Given the description of an element on the screen output the (x, y) to click on. 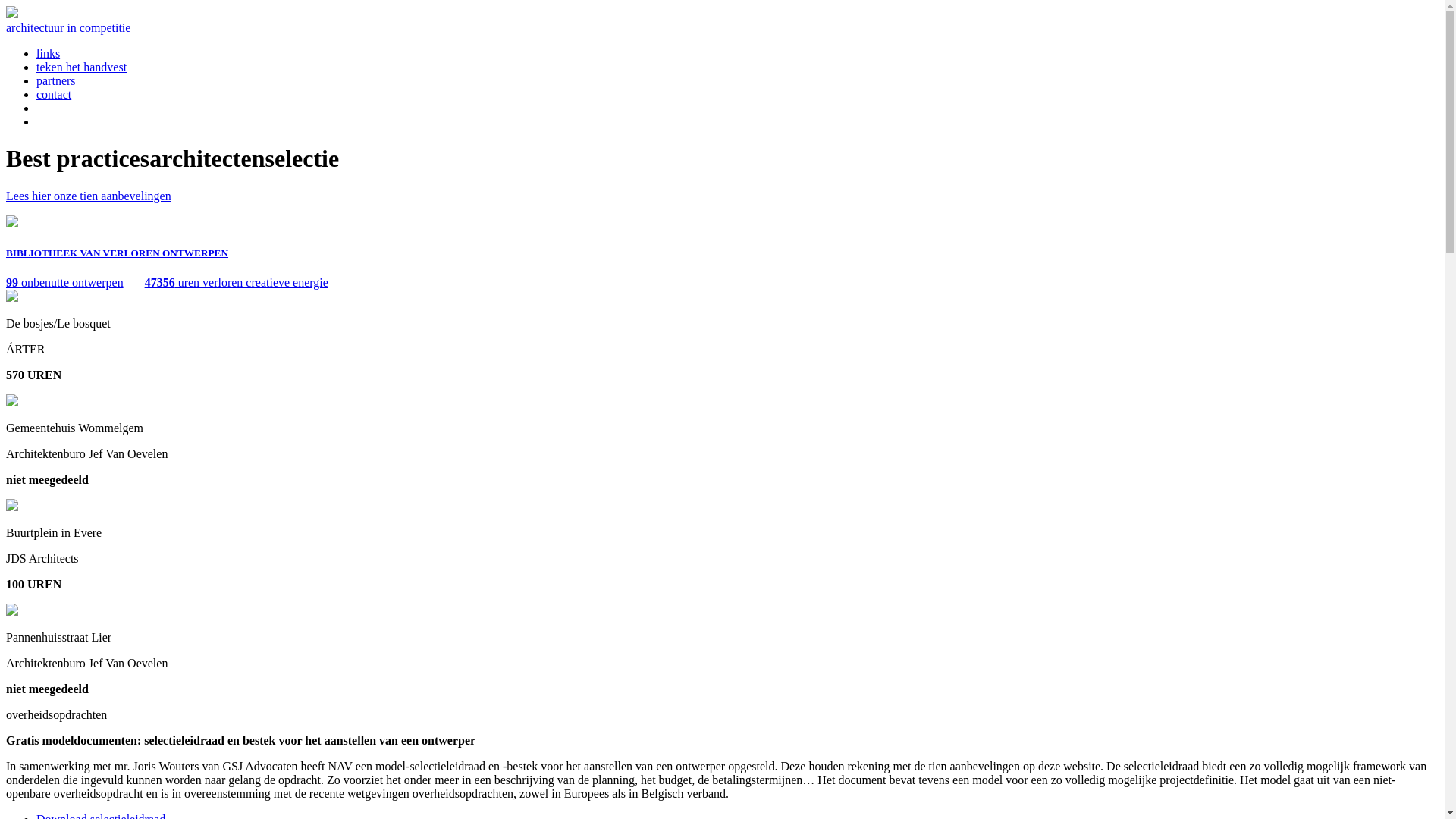
links Element type: text (47, 53)
partners Element type: text (55, 80)
contact Element type: text (53, 93)
47356 uren verloren creatieve energie Element type: text (236, 282)
architectuur in competitie Element type: text (68, 27)
99 onbenutte ontwerpen Element type: text (64, 282)
teken het handvest Element type: text (81, 66)
BIBLIOTHEEK VAN VERLOREN ONTWERPEN Element type: text (117, 252)
Lees hier onze tien aanbevelingen Element type: text (88, 195)
